Given the description of an element on the screen output the (x, y) to click on. 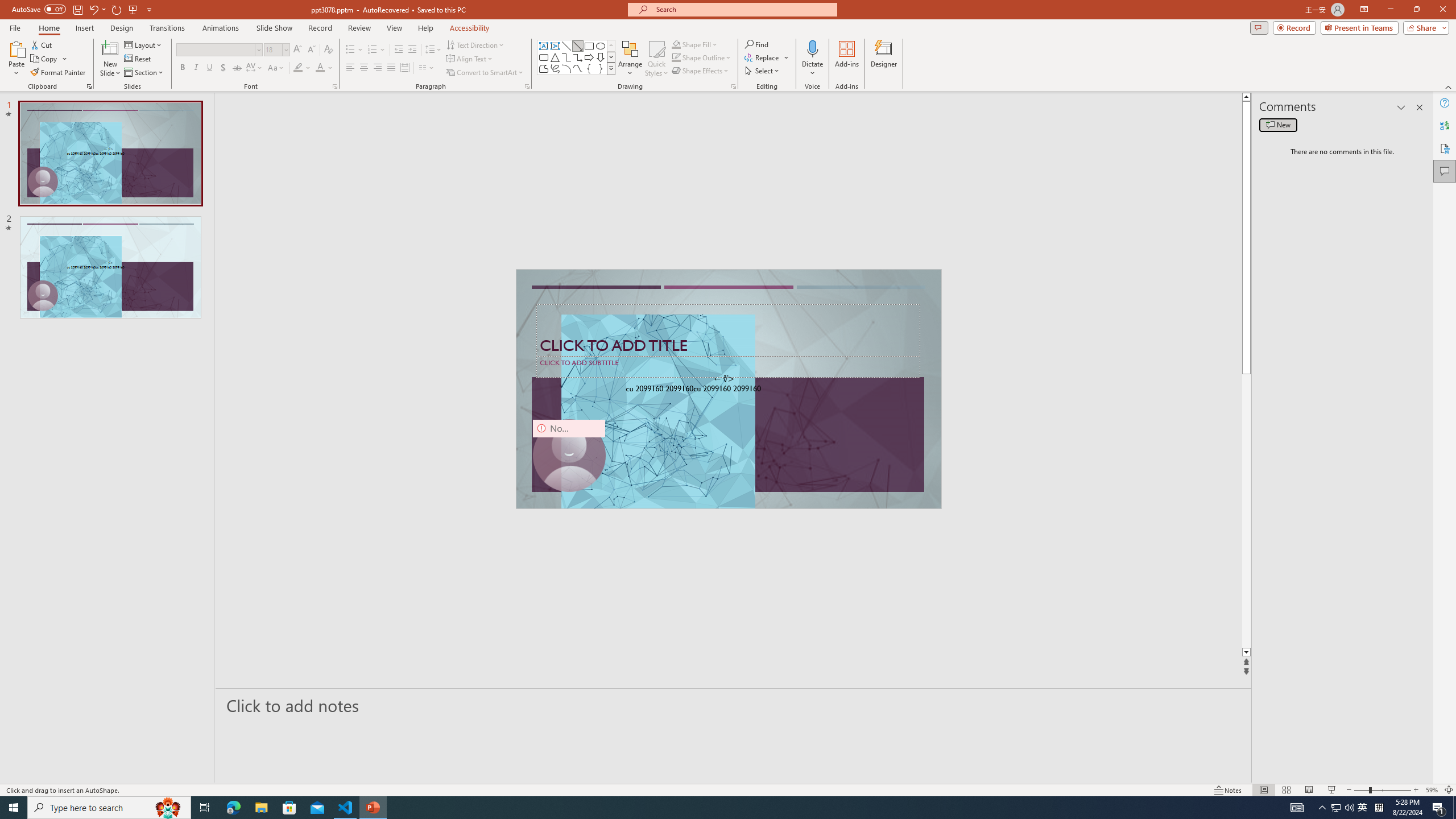
Shape Outline Green, Accent 1 (675, 56)
